Given the description of an element on the screen output the (x, y) to click on. 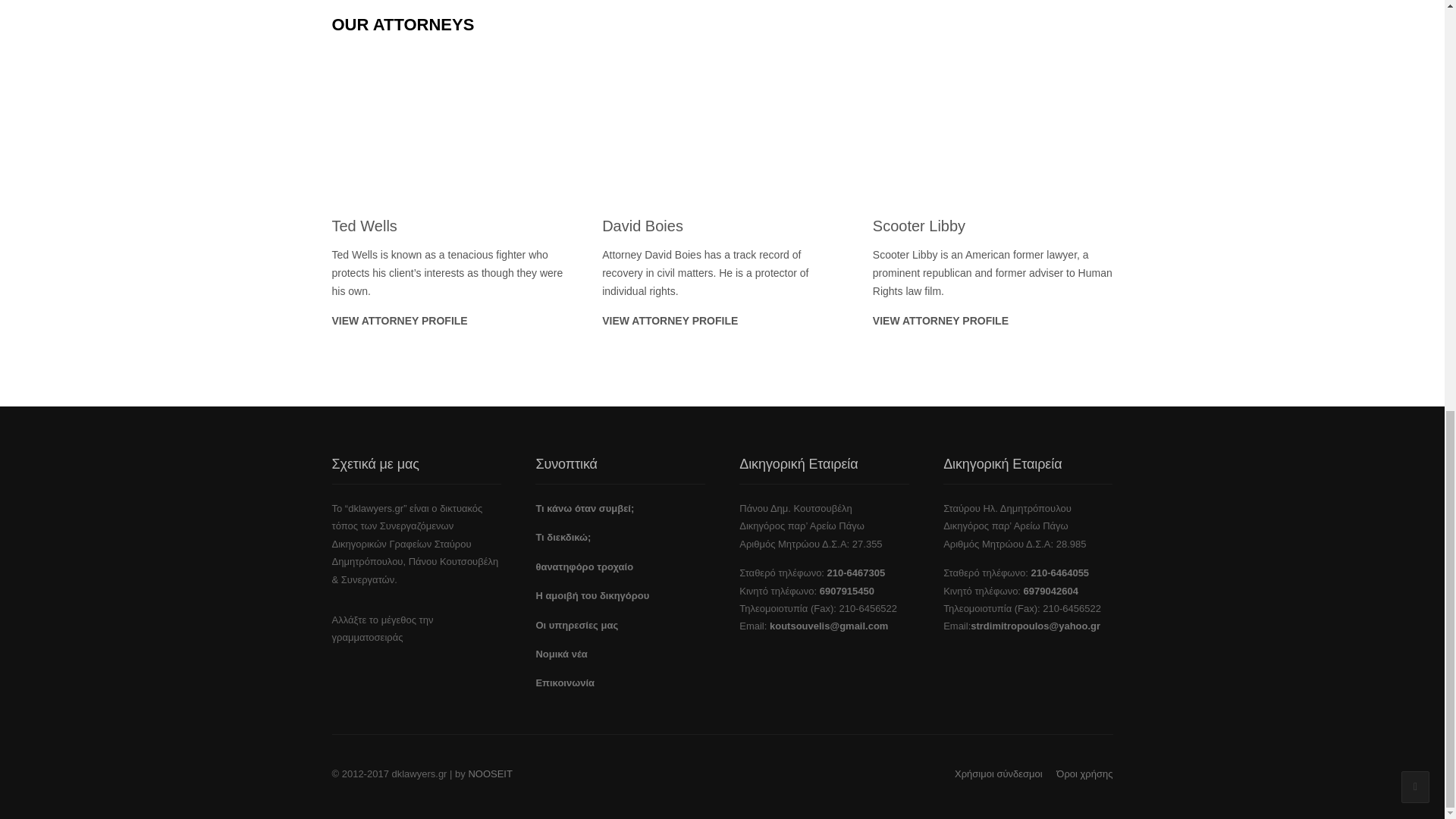
Scooter Libby (940, 320)
Scooter Libby (918, 225)
David Boies (722, 124)
210-6464055 (1059, 572)
6979042604 (1050, 591)
6907915450 (847, 591)
Ted Wells (399, 320)
Ted Wells (451, 124)
VIEW ATTORNEY PROFILE (940, 320)
210-6467305 (856, 572)
David Boies (642, 225)
VIEW ATTORNEY PROFILE (399, 320)
Ted Wells (364, 225)
David Boies (670, 320)
Scooter Libby (992, 124)
